Given the description of an element on the screen output the (x, y) to click on. 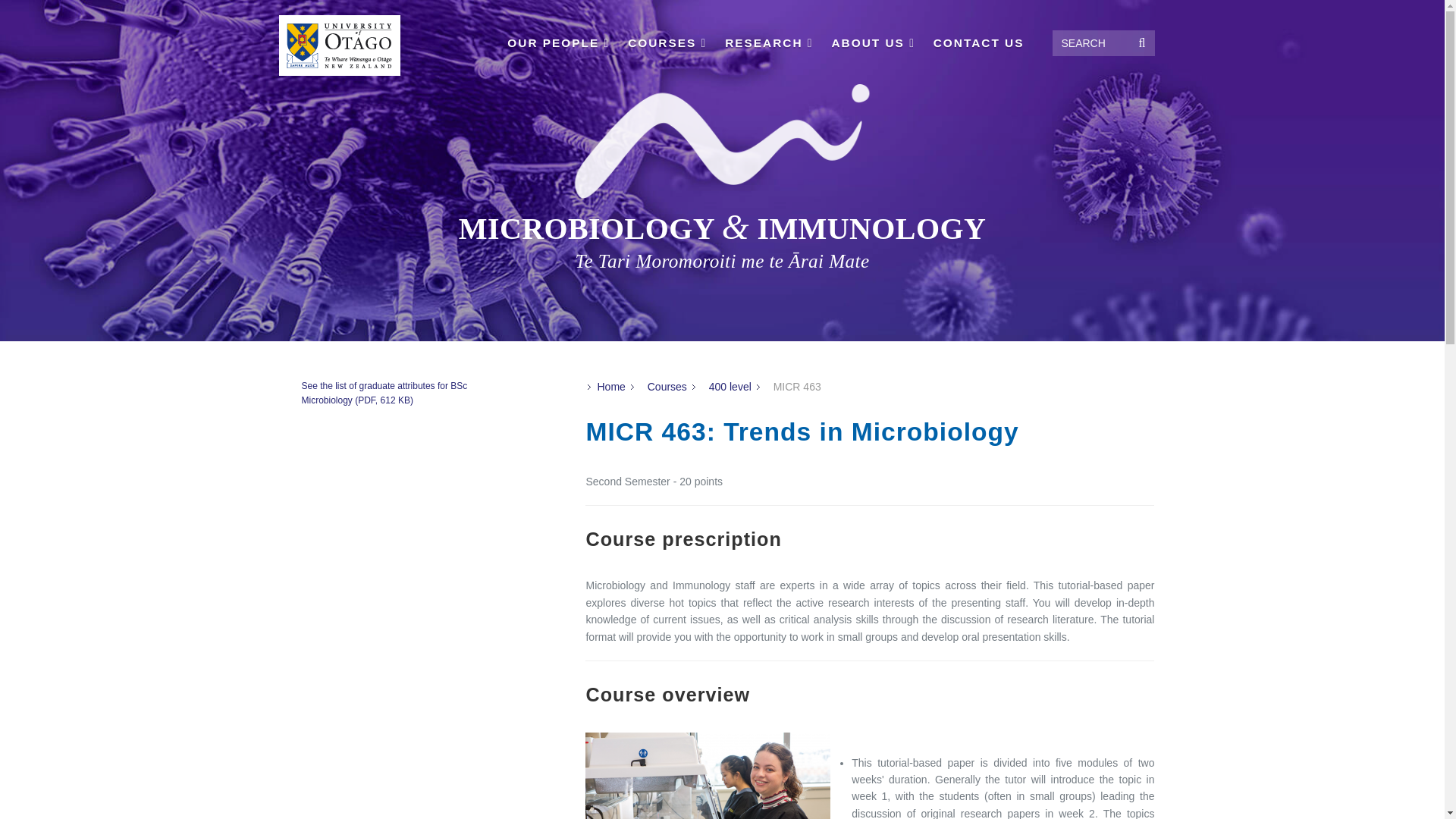
Our People (557, 42)
Courses (667, 42)
COURSES (667, 42)
OUR PEOPLE (557, 40)
